Given the description of an element on the screen output the (x, y) to click on. 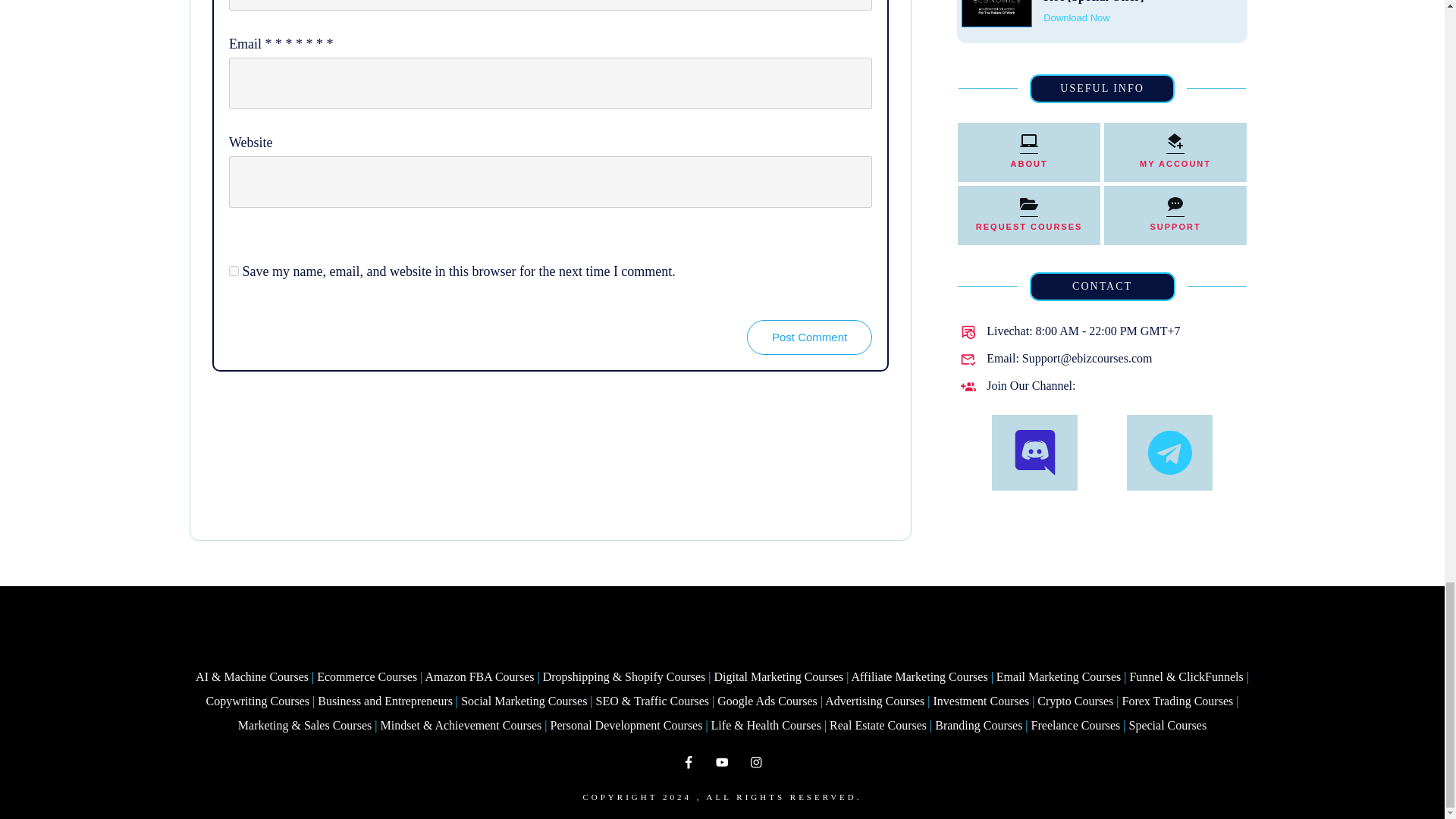
yes (233, 271)
